Given the description of an element on the screen output the (x, y) to click on. 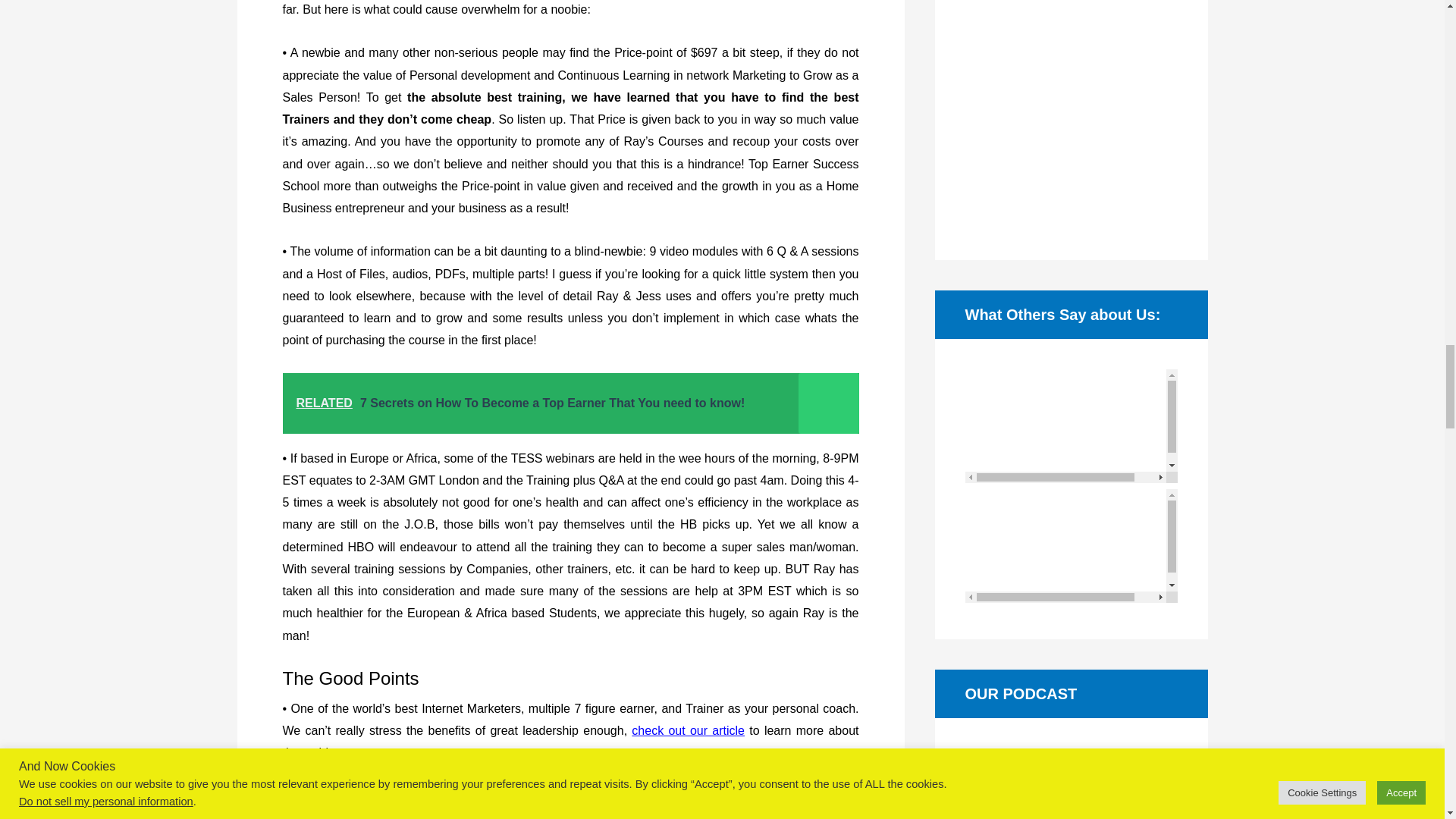
Would You Join You? (687, 730)
